Given the description of an element on the screen output the (x, y) to click on. 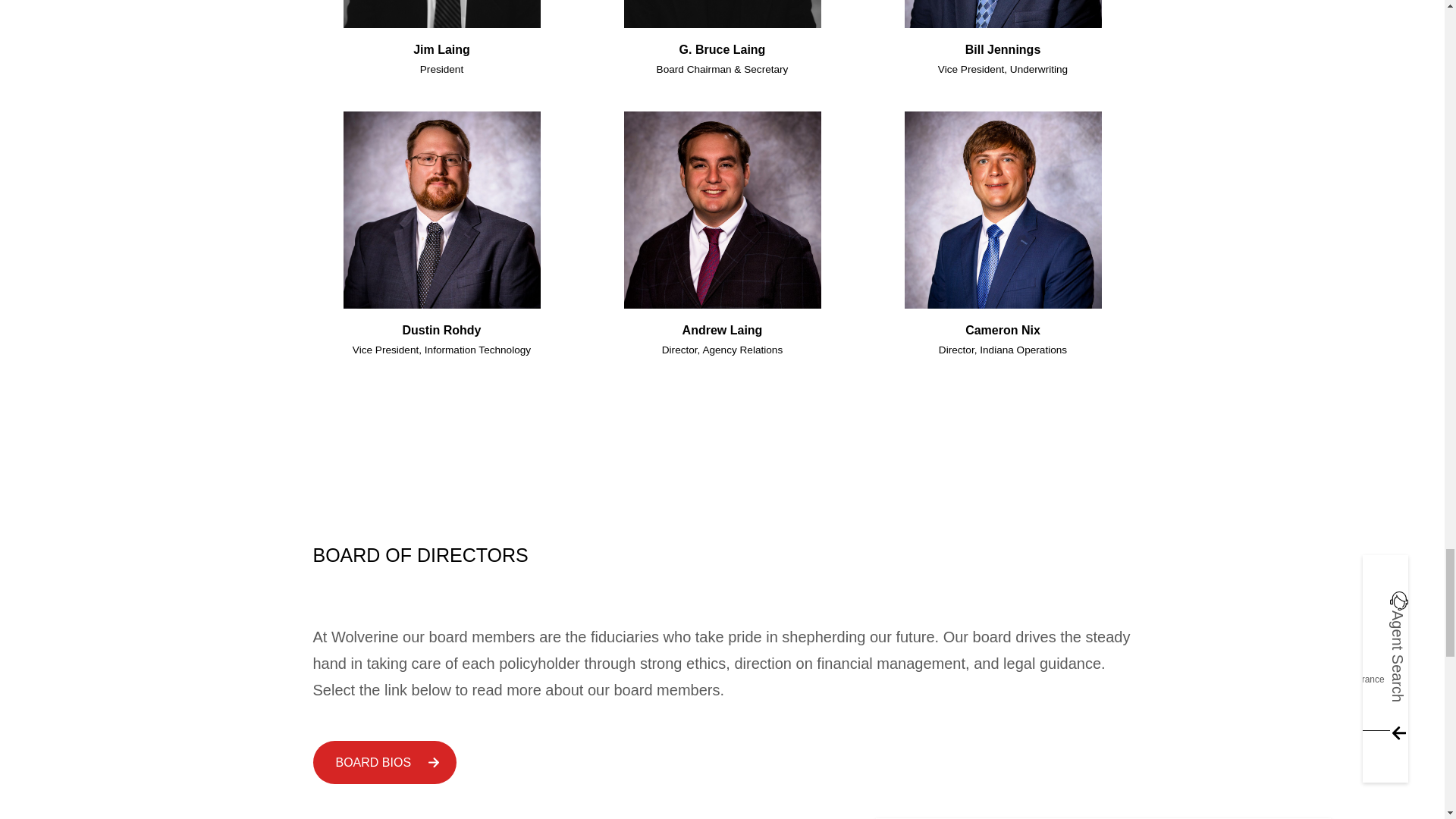
BOARD BIOS (385, 762)
